Given the description of an element on the screen output the (x, y) to click on. 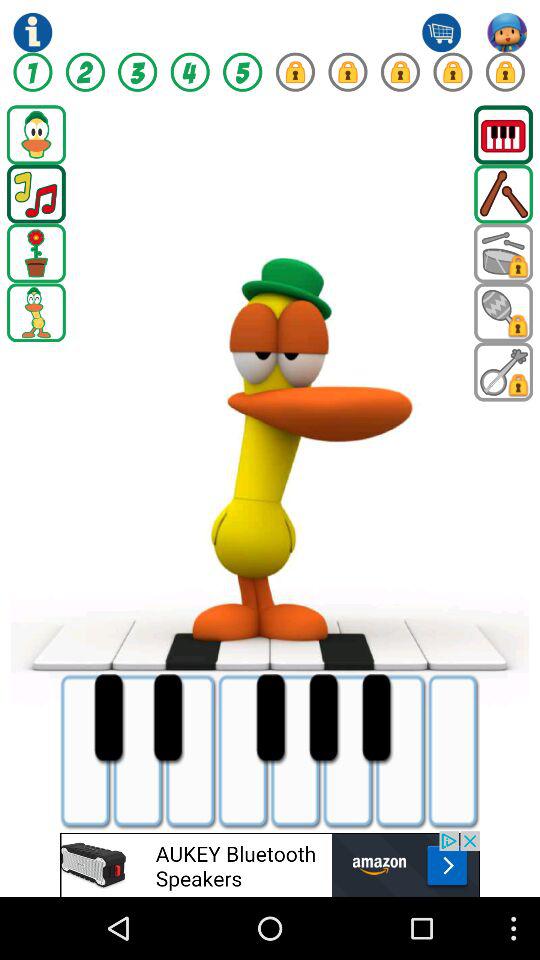
advertiment (270, 864)
